Given the description of an element on the screen output the (x, y) to click on. 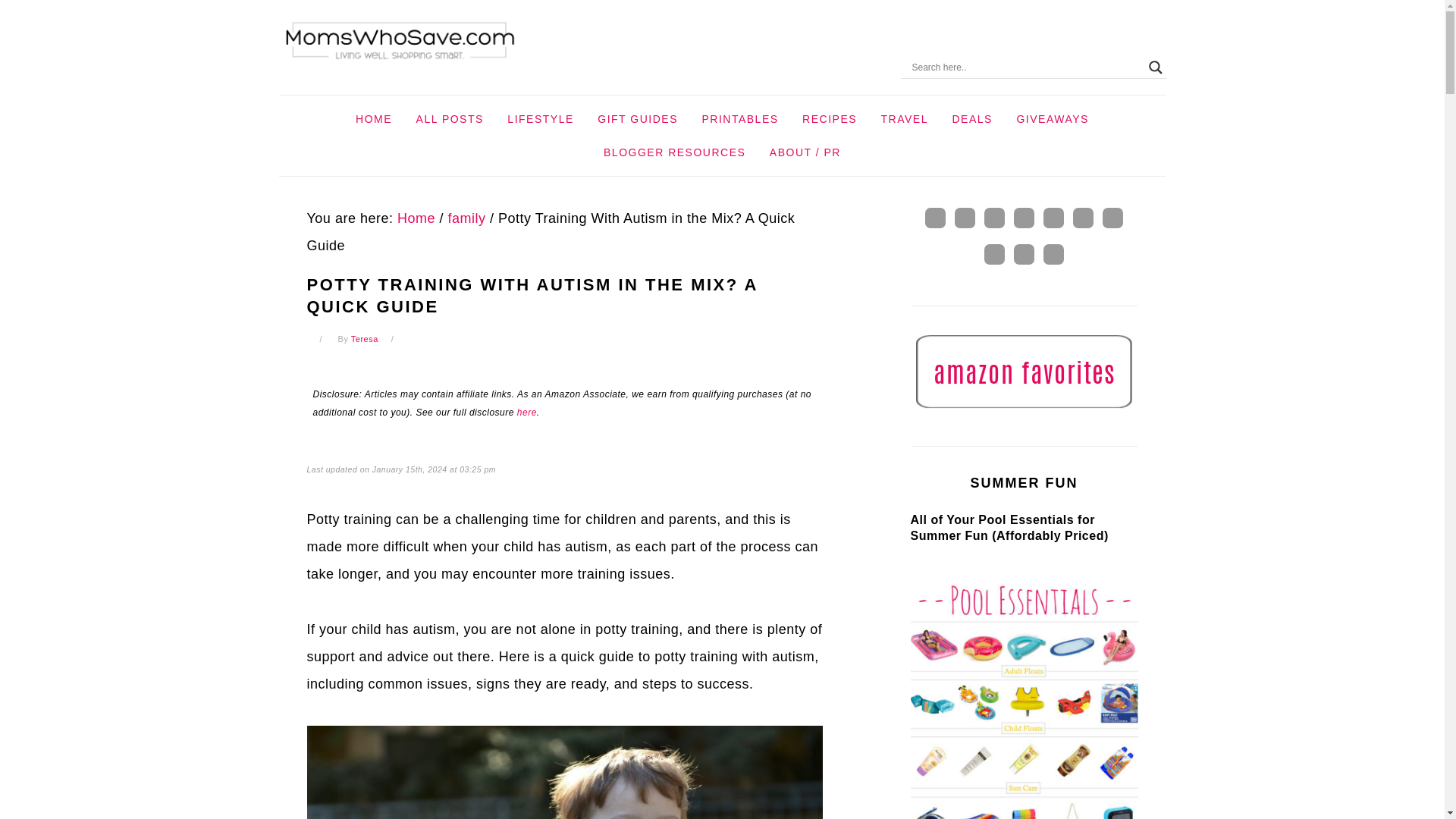
Potty Training With Autism (563, 772)
Amazon favorites (1023, 371)
PRINTABLES (739, 118)
HOME (373, 118)
GIFT GUIDES (637, 118)
RECIPES (828, 118)
DEALS (971, 118)
TRAVEL (904, 118)
MOMSWHOSAVE.COM (400, 41)
ALL POSTS (449, 118)
LIFESTYLE (540, 118)
